Given the description of an element on the screen output the (x, y) to click on. 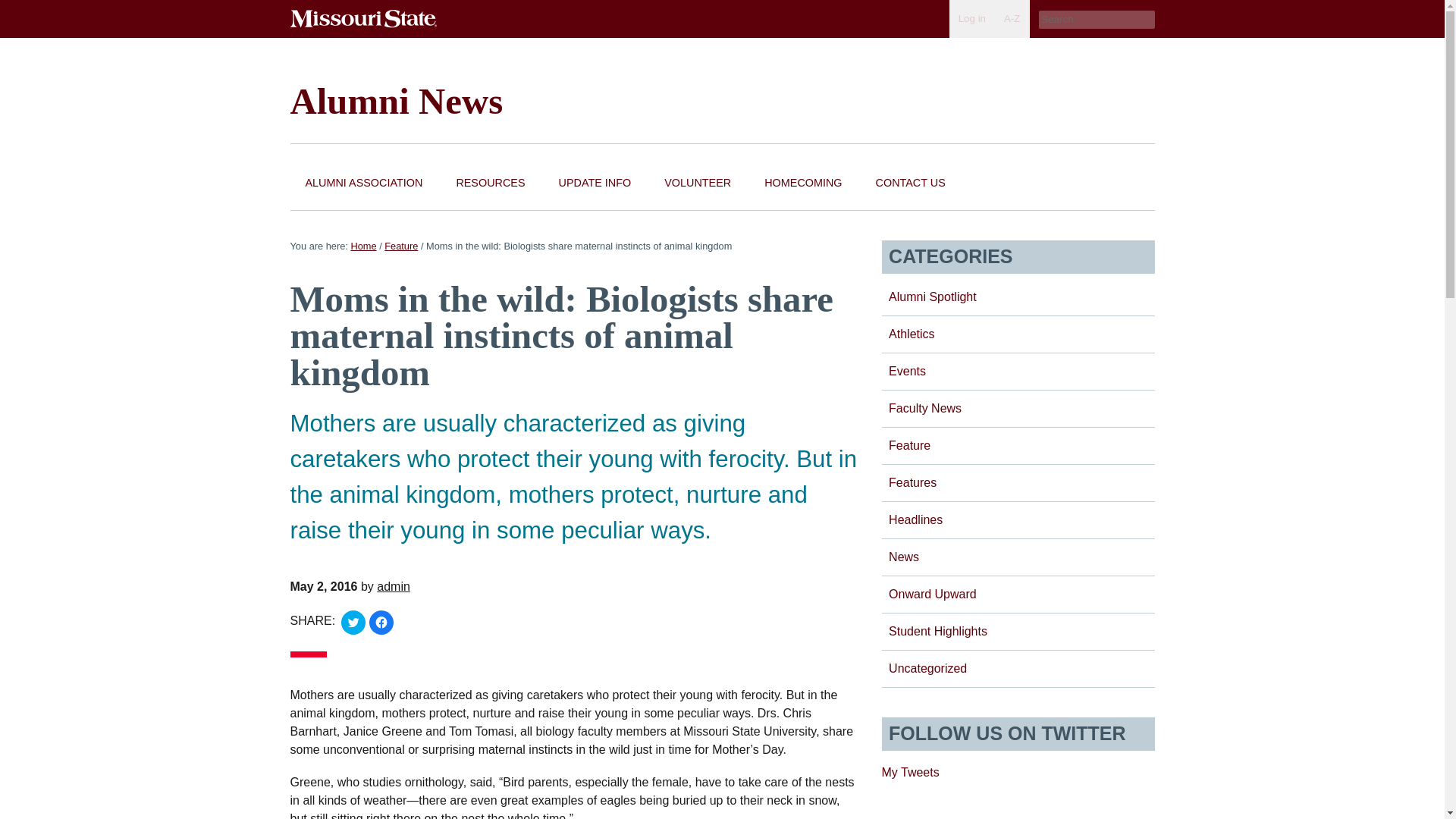
Log in (971, 18)
VOLUNTEER (697, 183)
Click to share on Twitter (352, 622)
ALUMNI ASSOCIATION (363, 183)
Click to share on Facebook (381, 622)
RESOURCES (490, 183)
A-Z (1011, 18)
UPDATE INFO (594, 183)
Alumni News (395, 101)
